Given the description of an element on the screen output the (x, y) to click on. 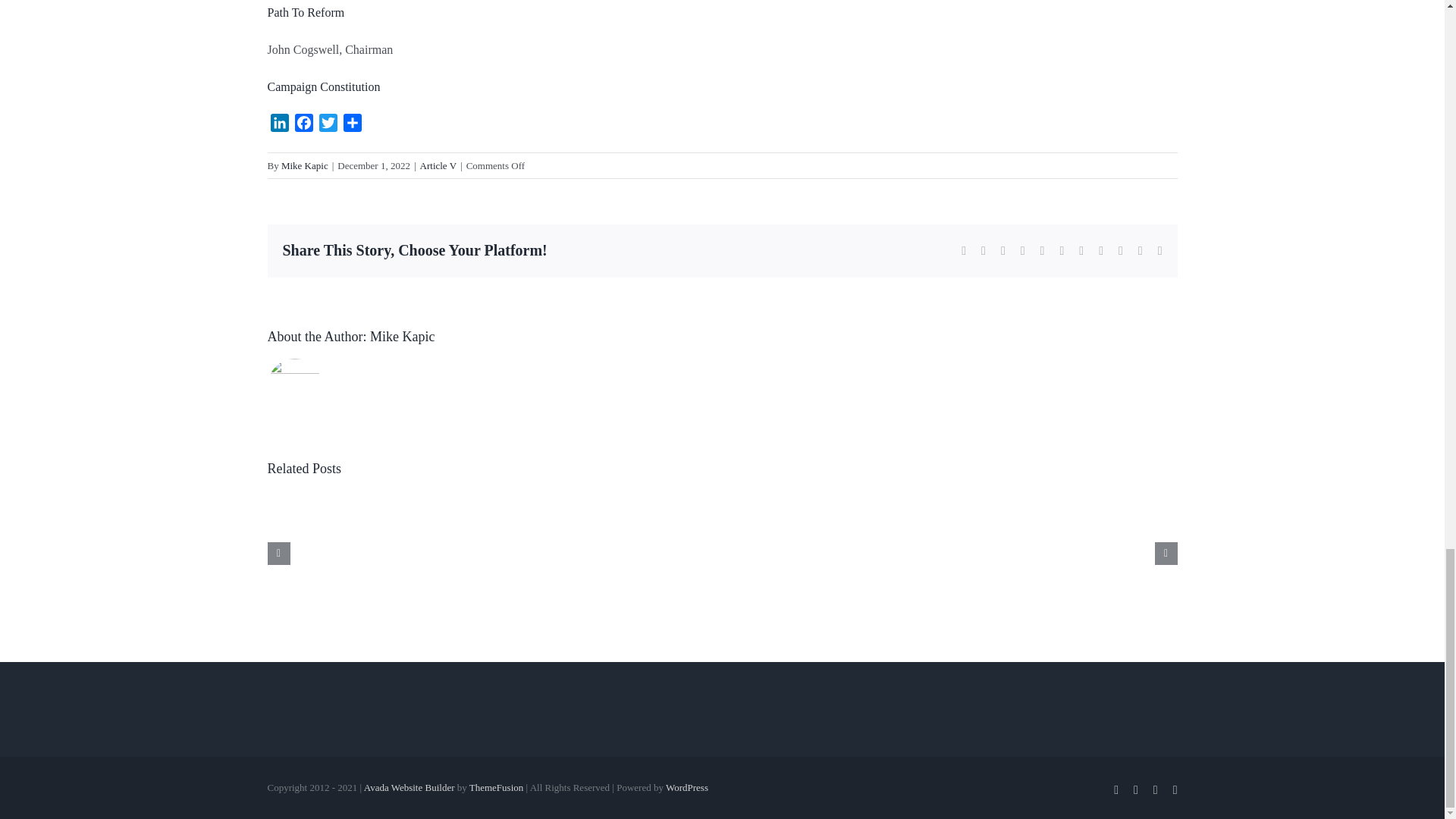
LinkedIn (278, 125)
Article V (438, 165)
Mike Kapic (305, 165)
Posts by Mike Kapic (401, 336)
Facebook (303, 125)
Twitter (327, 125)
Facebook (303, 125)
Campaign Constitution (323, 86)
Posts by Mike Kapic (305, 165)
LinkedIn (278, 125)
